Given the description of an element on the screen output the (x, y) to click on. 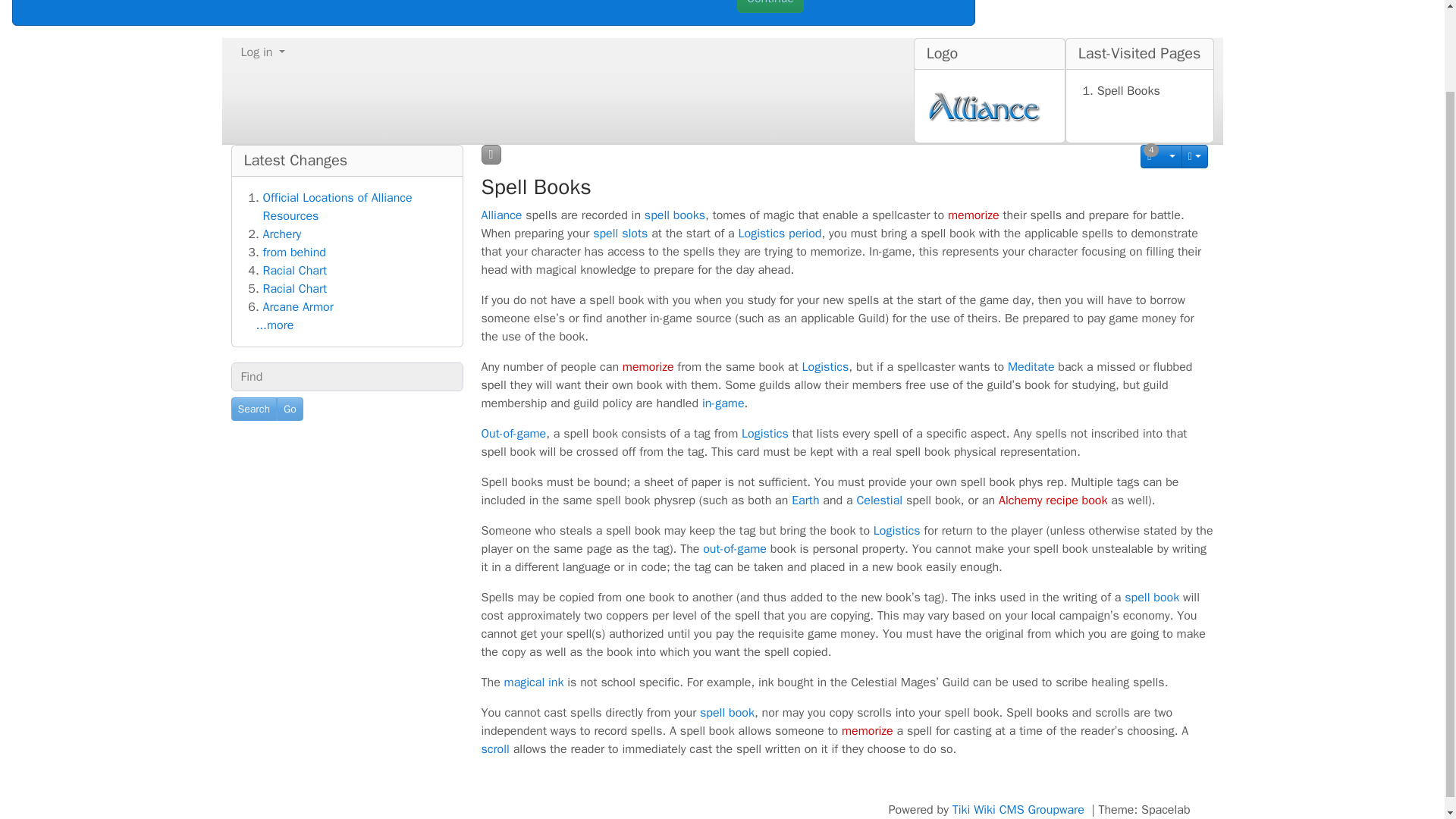
Spell Slots (619, 233)
Earth (805, 500)
spell slots (619, 233)
Log in (262, 51)
Logistics period (780, 233)
Page actions (1194, 156)
Official Locations of Alliance Resources (337, 206)
4 (1161, 156)
spell books (674, 215)
Toggle left modules (490, 154)
out-of-game (735, 548)
spell book (1151, 597)
Search (253, 408)
memorize (648, 366)
Alliance (500, 215)
